Given the description of an element on the screen output the (x, y) to click on. 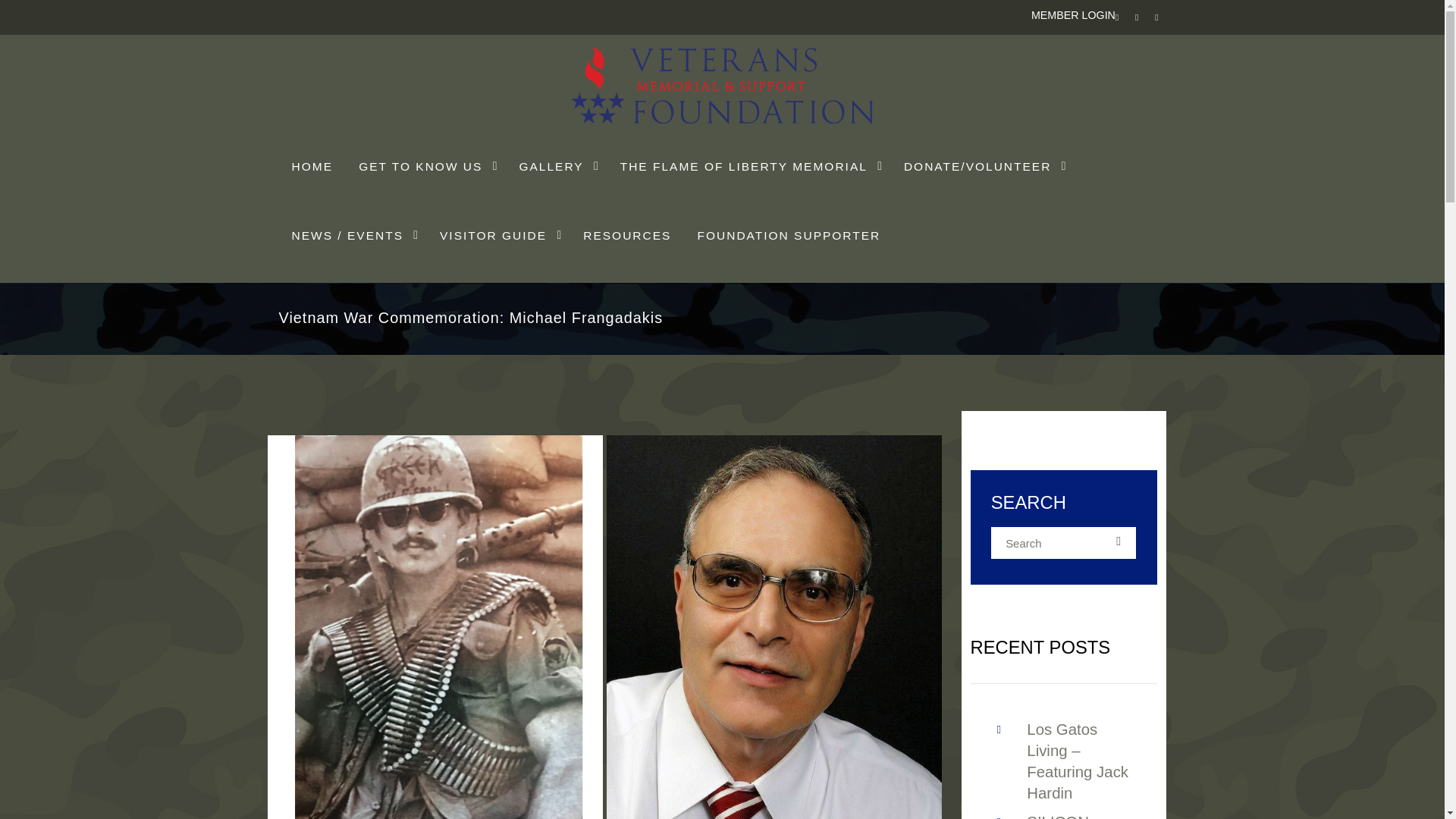
GALLERY (556, 166)
GET TO KNOW US (425, 166)
MEMBER LOGIN (1072, 15)
HOME (312, 166)
THE FLAME OF LIBERTY MEMORIAL (749, 166)
Search for: (1064, 543)
